Given the description of an element on the screen output the (x, y) to click on. 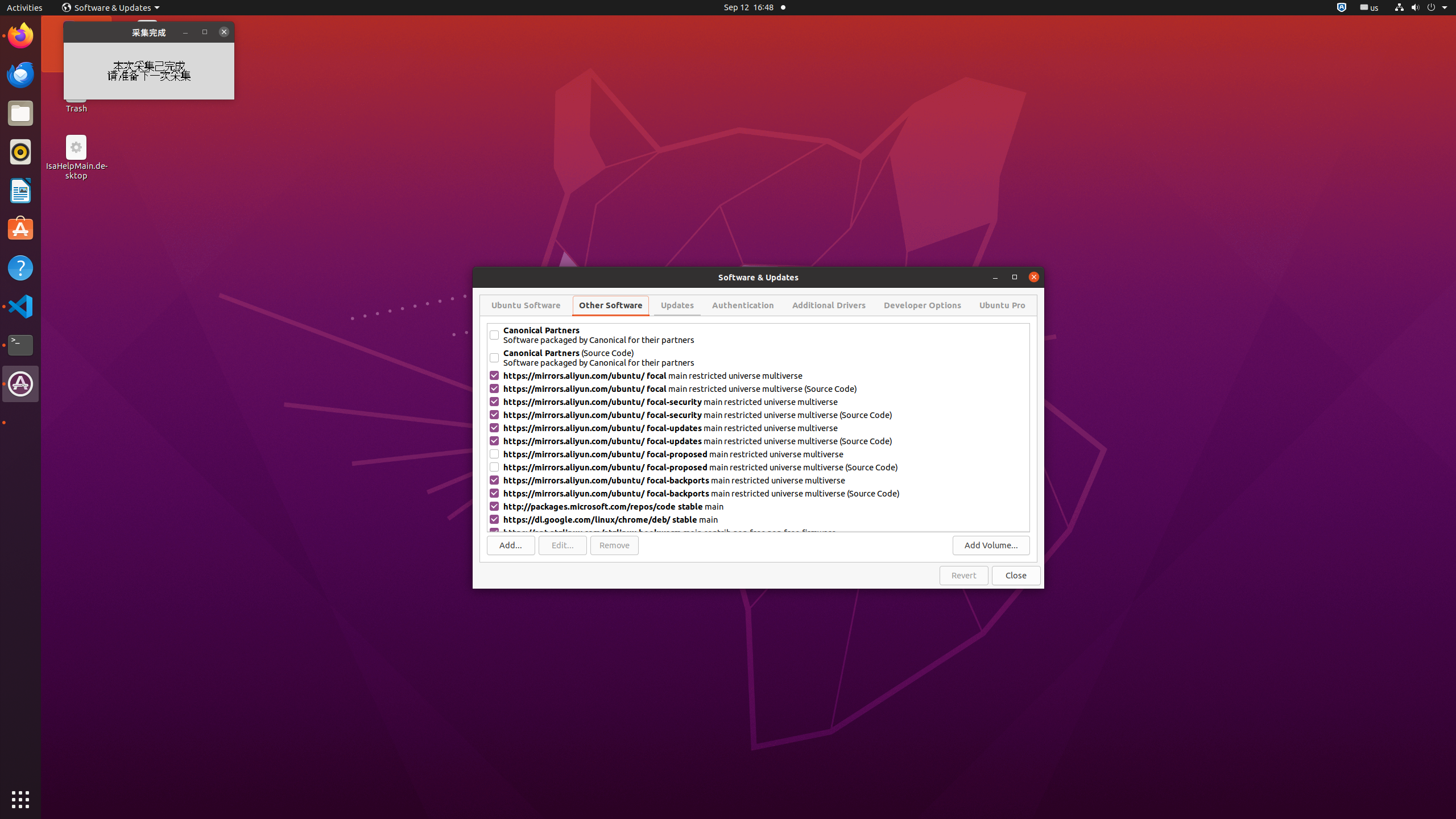
Close Element type: push-button (1015, 575)
Activities Element type: label (24, 7)
